Given the description of an element on the screen output the (x, y) to click on. 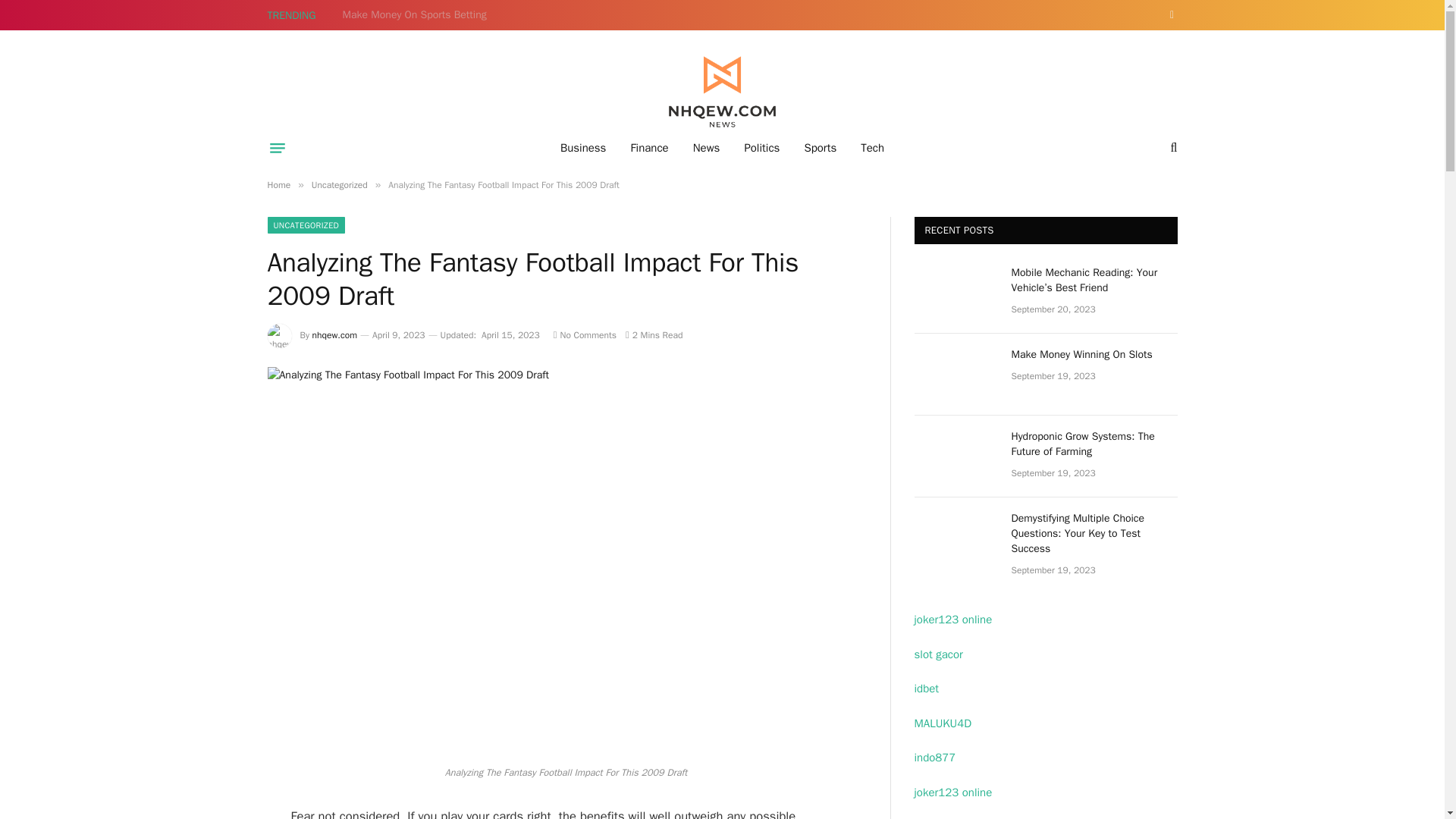
Sports (820, 147)
Make Money On Sports Betting (418, 15)
Tech (872, 147)
Finance (648, 147)
Politics (762, 147)
Posts by nhqew.com (334, 335)
Home (277, 184)
Switch to Dark Design - easier on eyes. (1170, 14)
Nhqew (721, 92)
Business (583, 147)
UNCATEGORIZED (305, 225)
No Comments (584, 335)
Uncategorized (339, 184)
News (706, 147)
